Given the description of an element on the screen output the (x, y) to click on. 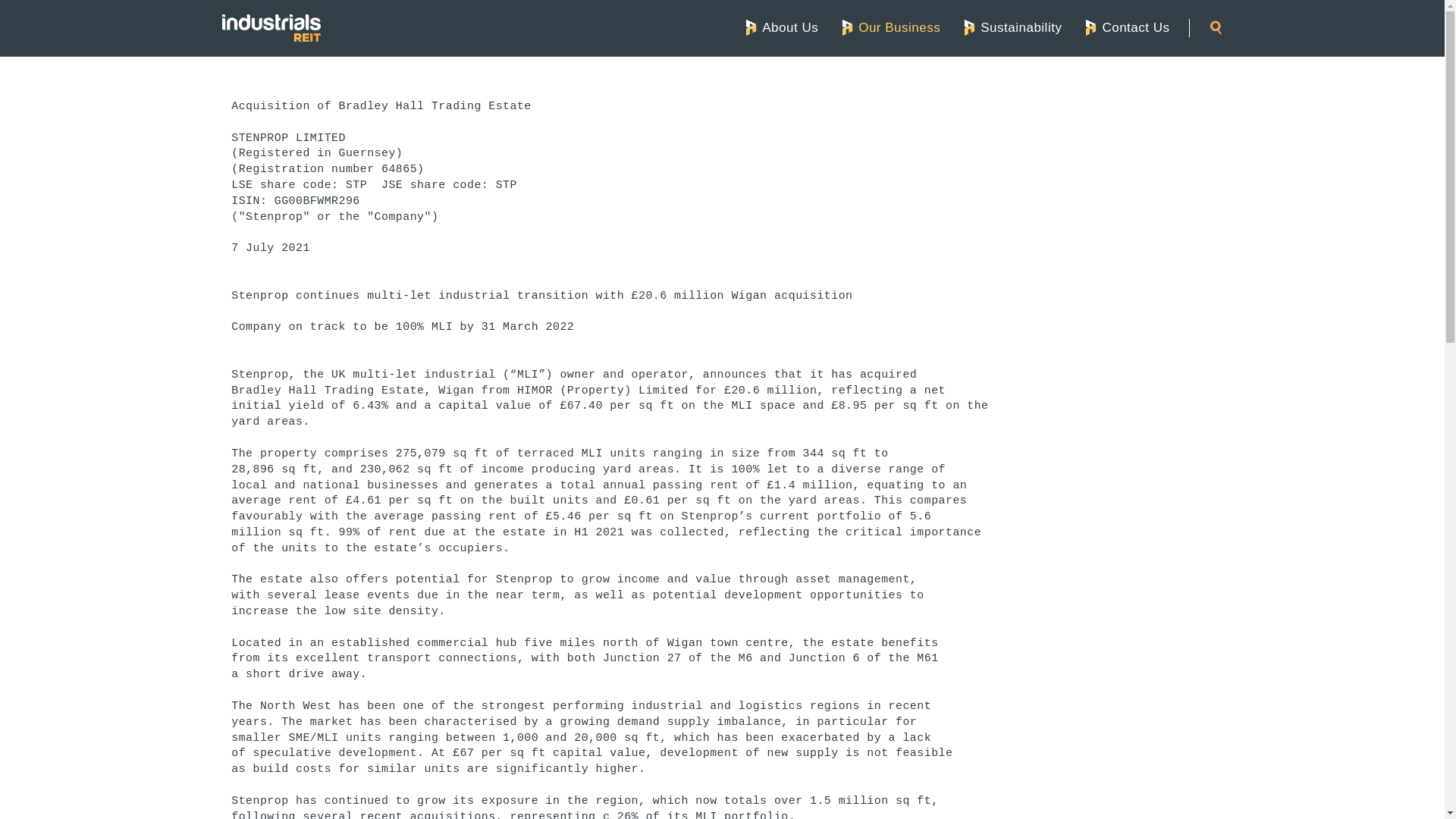
Our Business (890, 27)
Sustainability (1010, 27)
Home (270, 27)
About Us (780, 27)
Contact Us (1126, 27)
Send (1041, 78)
Search (1215, 27)
